Given the description of an element on the screen output the (x, y) to click on. 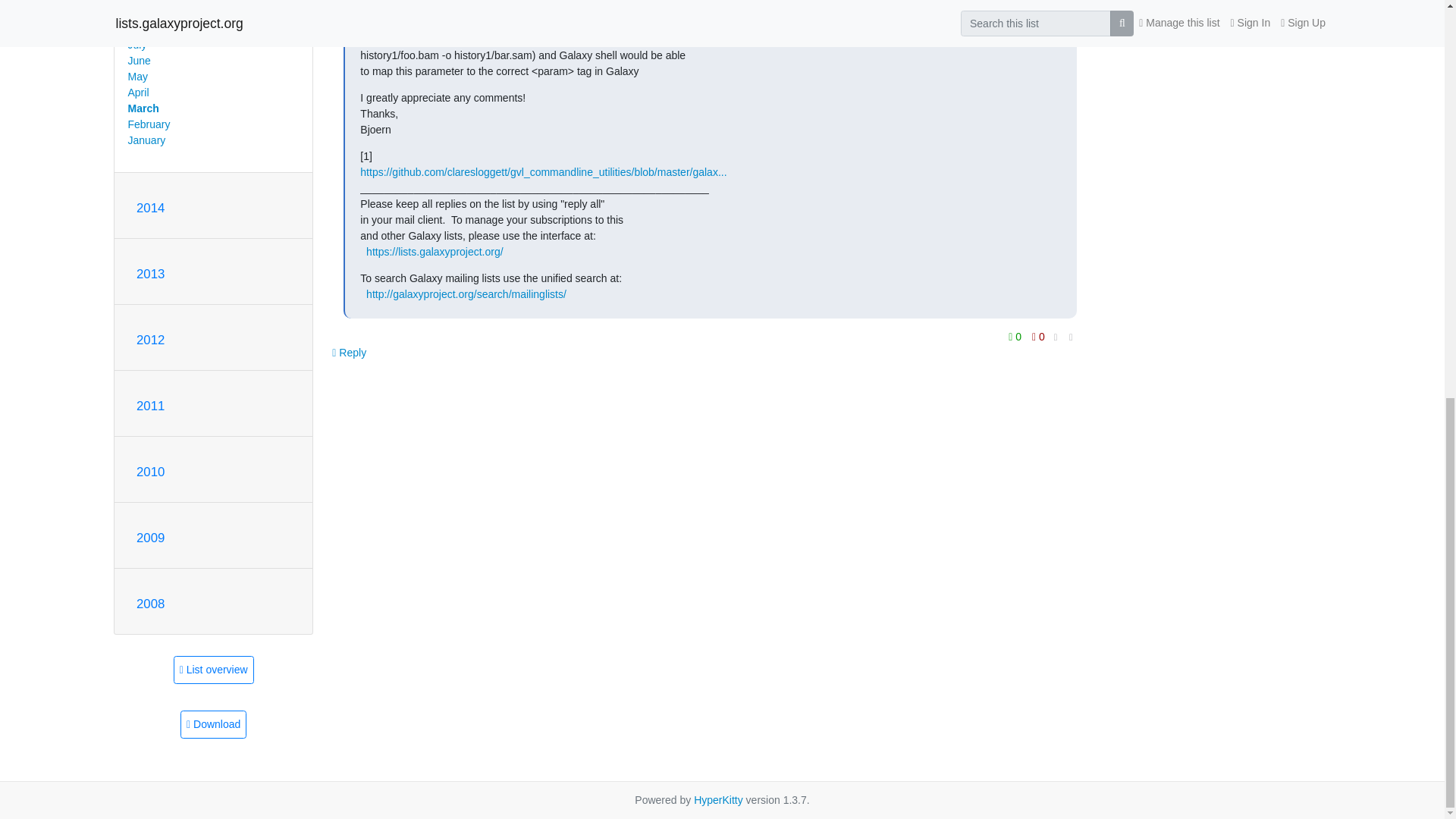
You must be logged-in to vote. (1037, 336)
Sign in to reply online (349, 352)
You must be logged-in to vote. (1015, 336)
This message in gzipped mbox format (213, 724)
